Given the description of an element on the screen output the (x, y) to click on. 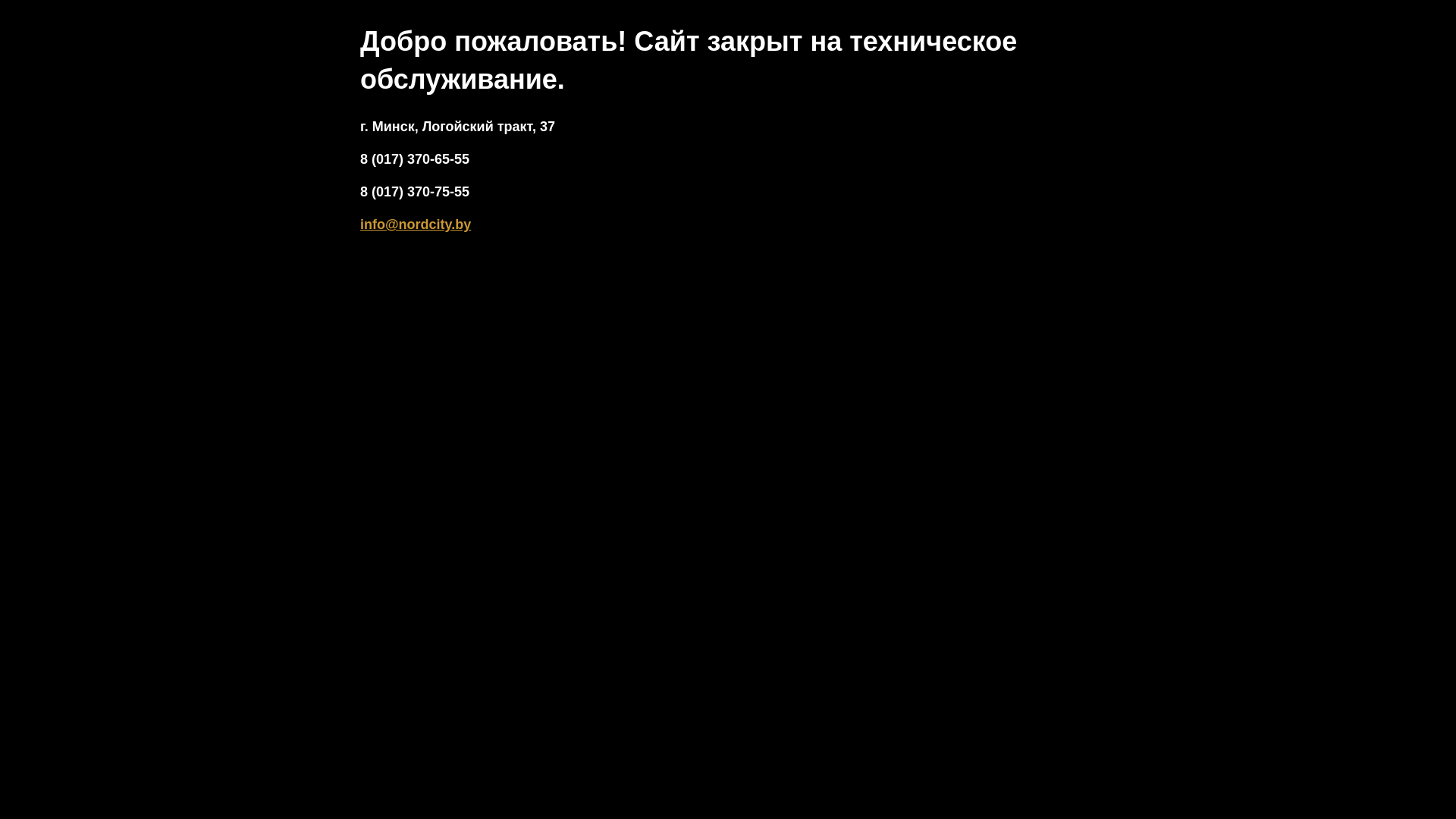
info@nordcity.by Element type: text (415, 224)
